Given the description of an element on the screen output the (x, y) to click on. 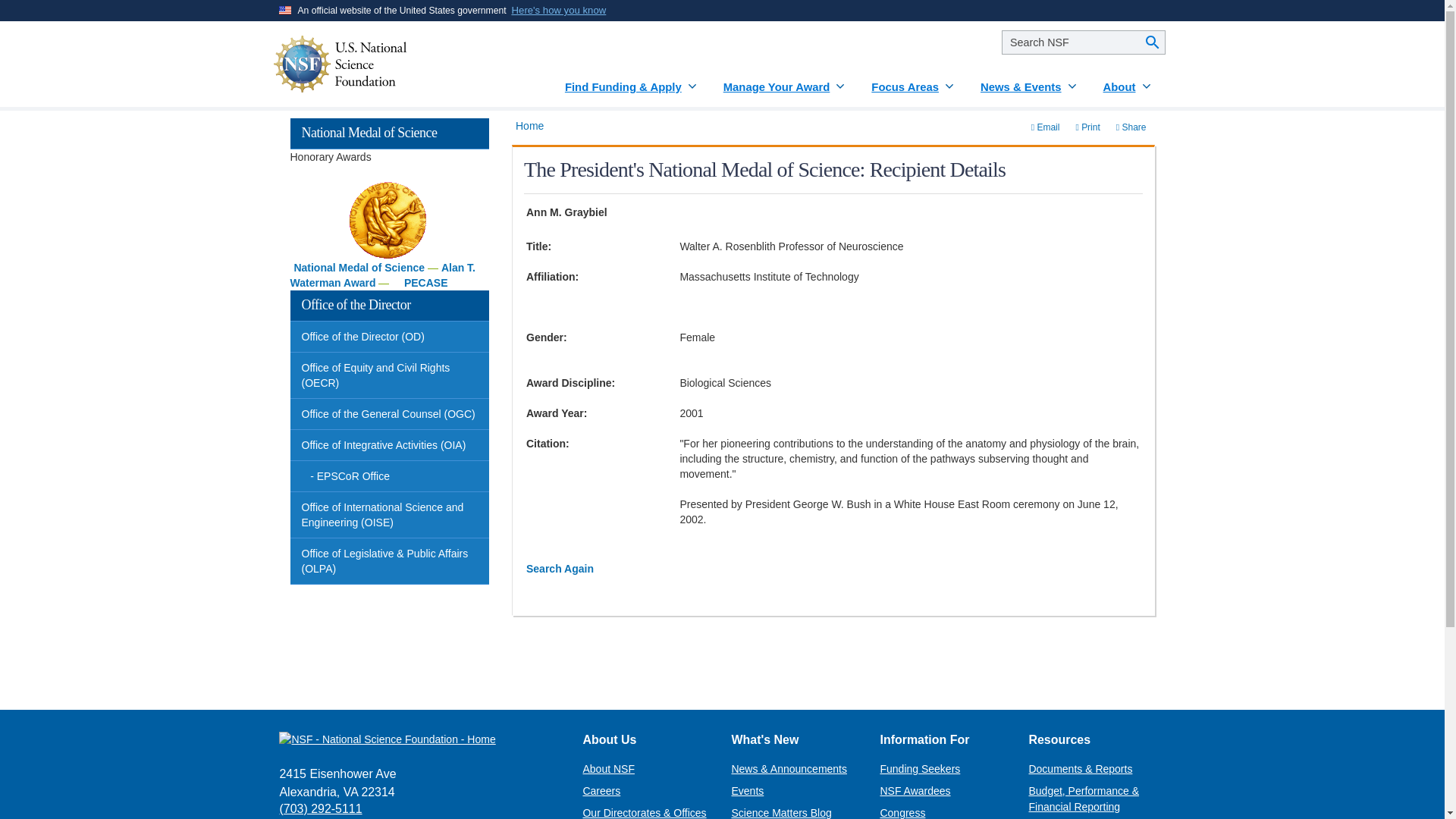
Share (1131, 127)
Print (1087, 127)
About (1128, 81)
Home (529, 125)
PECASE (426, 282)
NSF - National Science Foundation - Home (418, 738)
Manage Your Award (785, 81)
Search Again (559, 568)
National Medal of Science (359, 267)
Alan T. Waterman Award (382, 275)
Here's how you know (559, 10)
Careers (601, 790)
Focus Areas (913, 81)
search (1082, 42)
About NSF (607, 768)
